Given the description of an element on the screen output the (x, y) to click on. 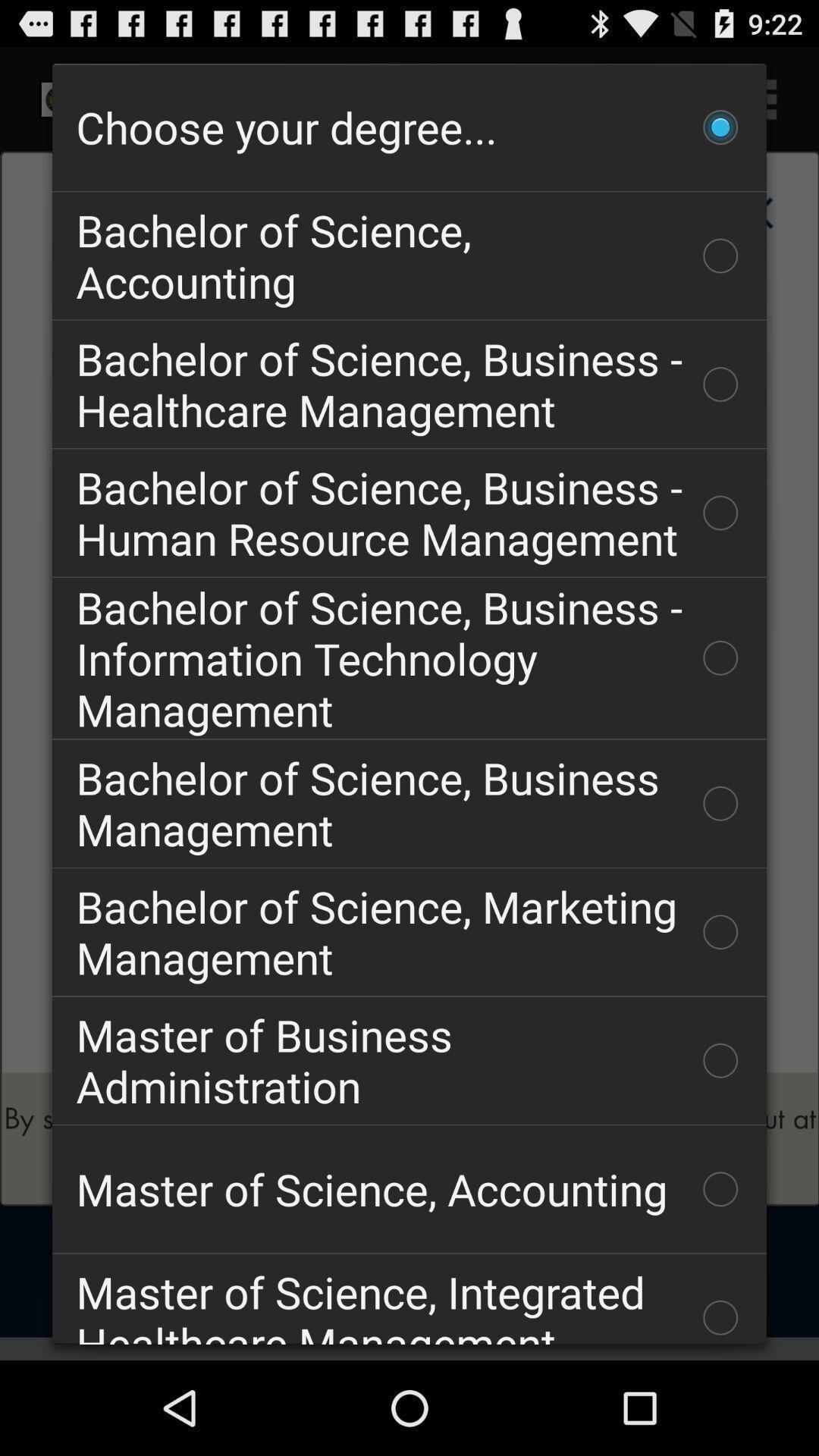
tap choose your degree... icon (409, 127)
